Given the description of an element on the screen output the (x, y) to click on. 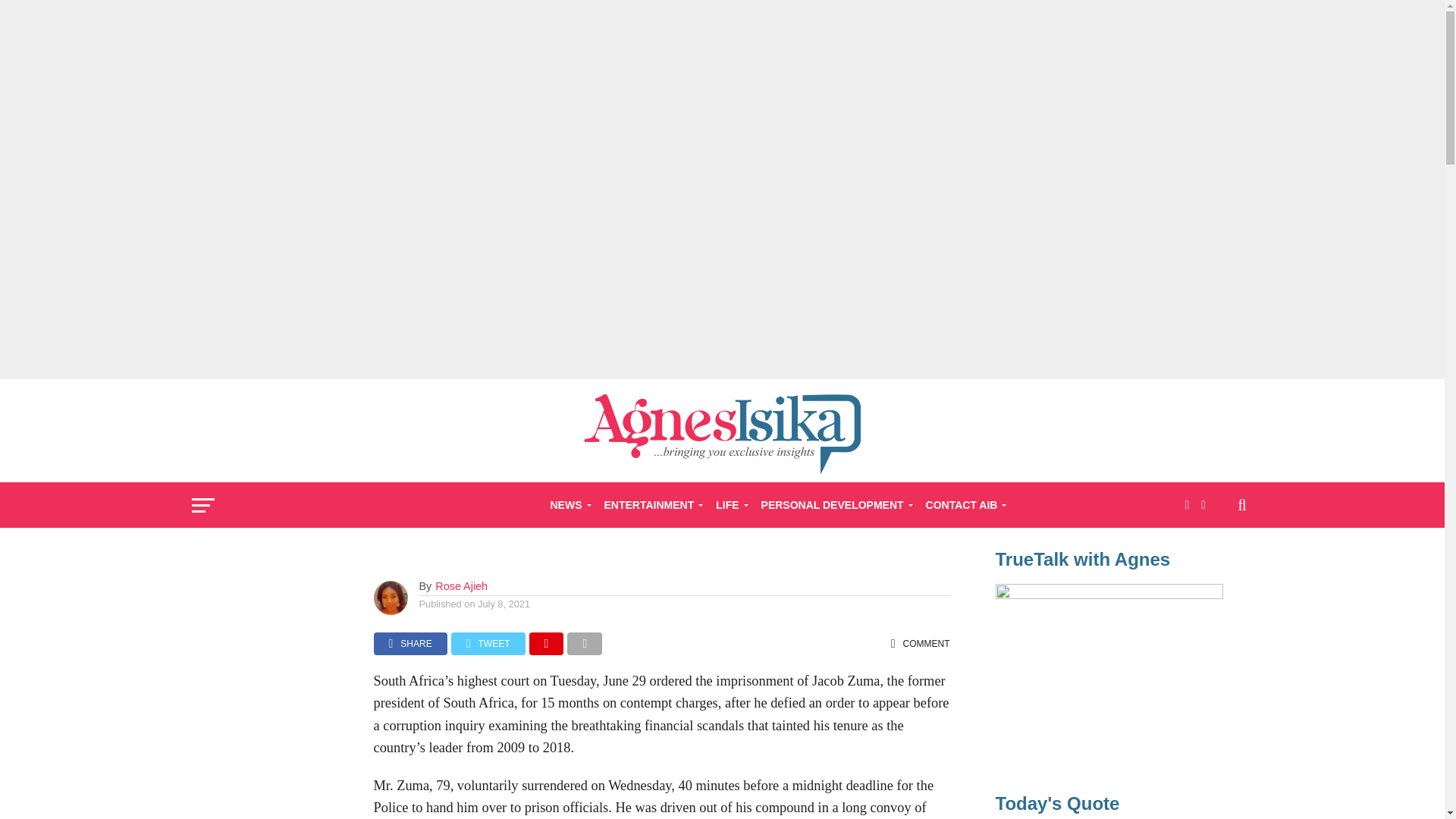
ENTERTAINMENT (650, 504)
Posts by Rose Ajieh (461, 585)
NEWS (568, 504)
LIFE (728, 504)
